Given the description of an element on the screen output the (x, y) to click on. 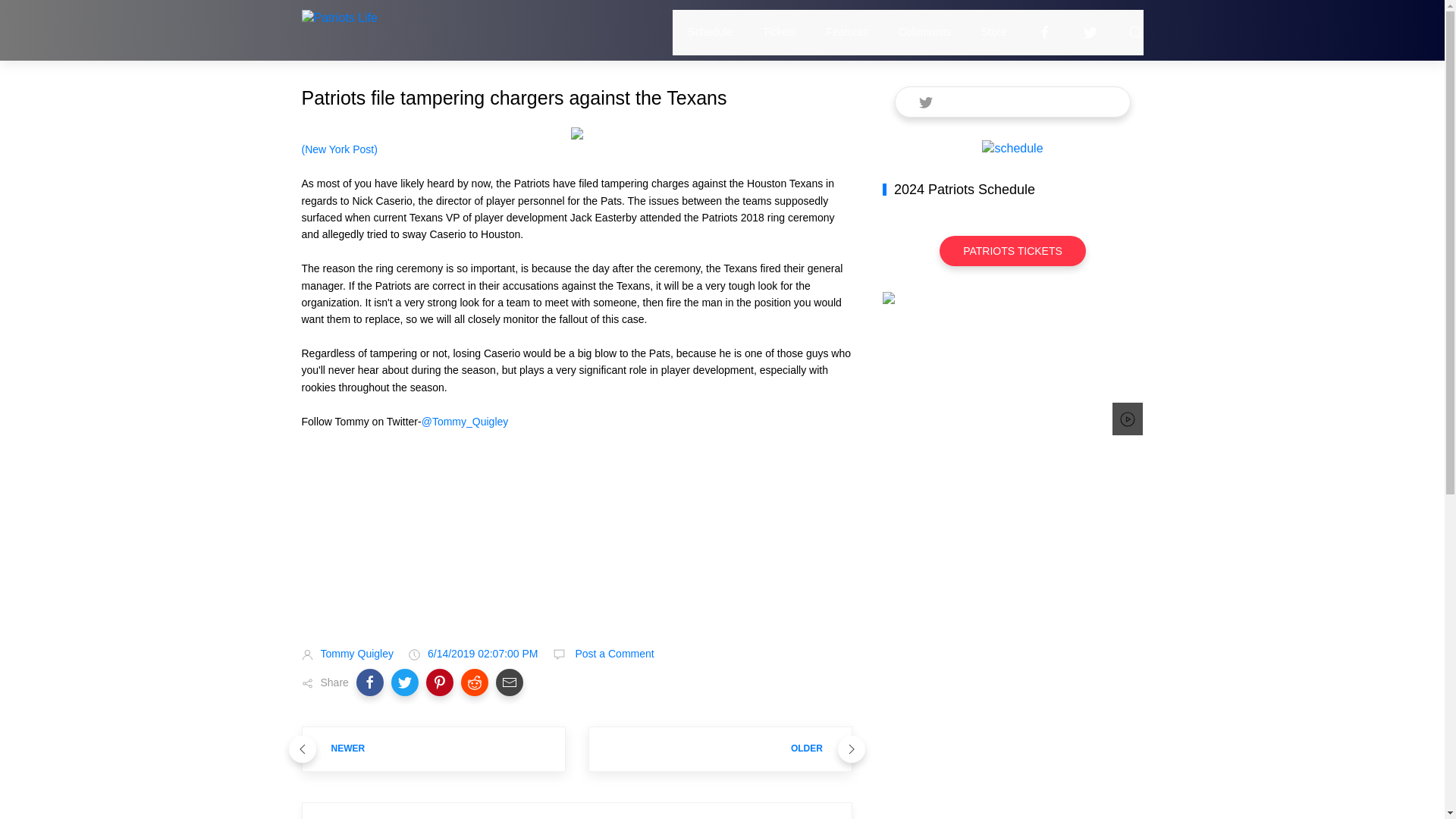
permanent link (483, 653)
Columnists (924, 32)
Post a Comment (612, 653)
Features (847, 32)
Advertisement (576, 551)
NEWER (433, 748)
author profile (356, 653)
Tommy Quigley (356, 653)
OLDER (719, 748)
PATRIOTS TICKETS (1012, 250)
Schedule (709, 32)
